Given the description of an element on the screen output the (x, y) to click on. 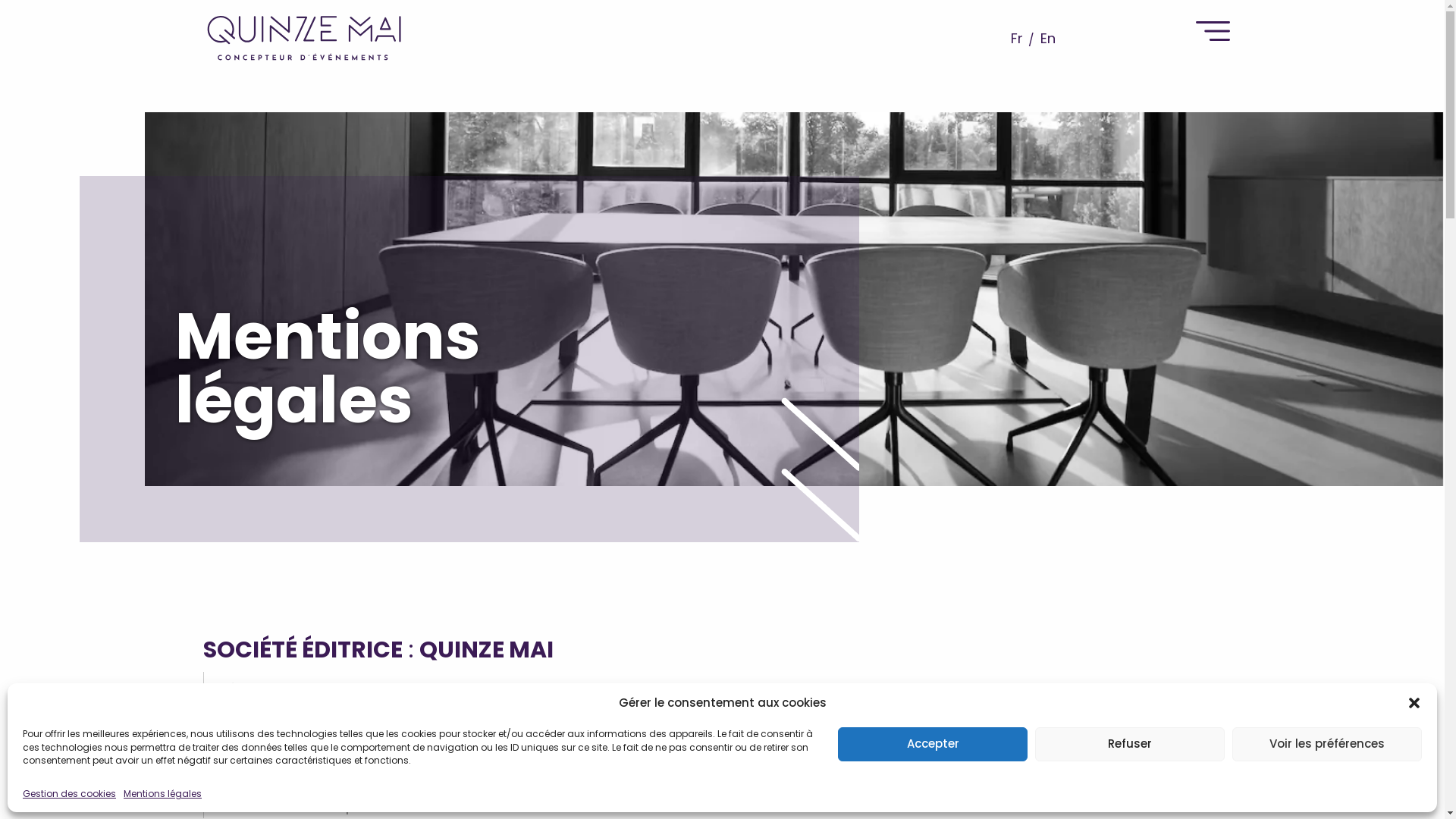
Accepter Element type: text (932, 743)
Gestion des cookies Element type: text (69, 793)
Fr Element type: text (1016, 37)
contact@15-mai.com Element type: text (411, 770)
En Element type: text (1050, 37)
Refuser Element type: text (1129, 743)
